Given the description of an element on the screen output the (x, y) to click on. 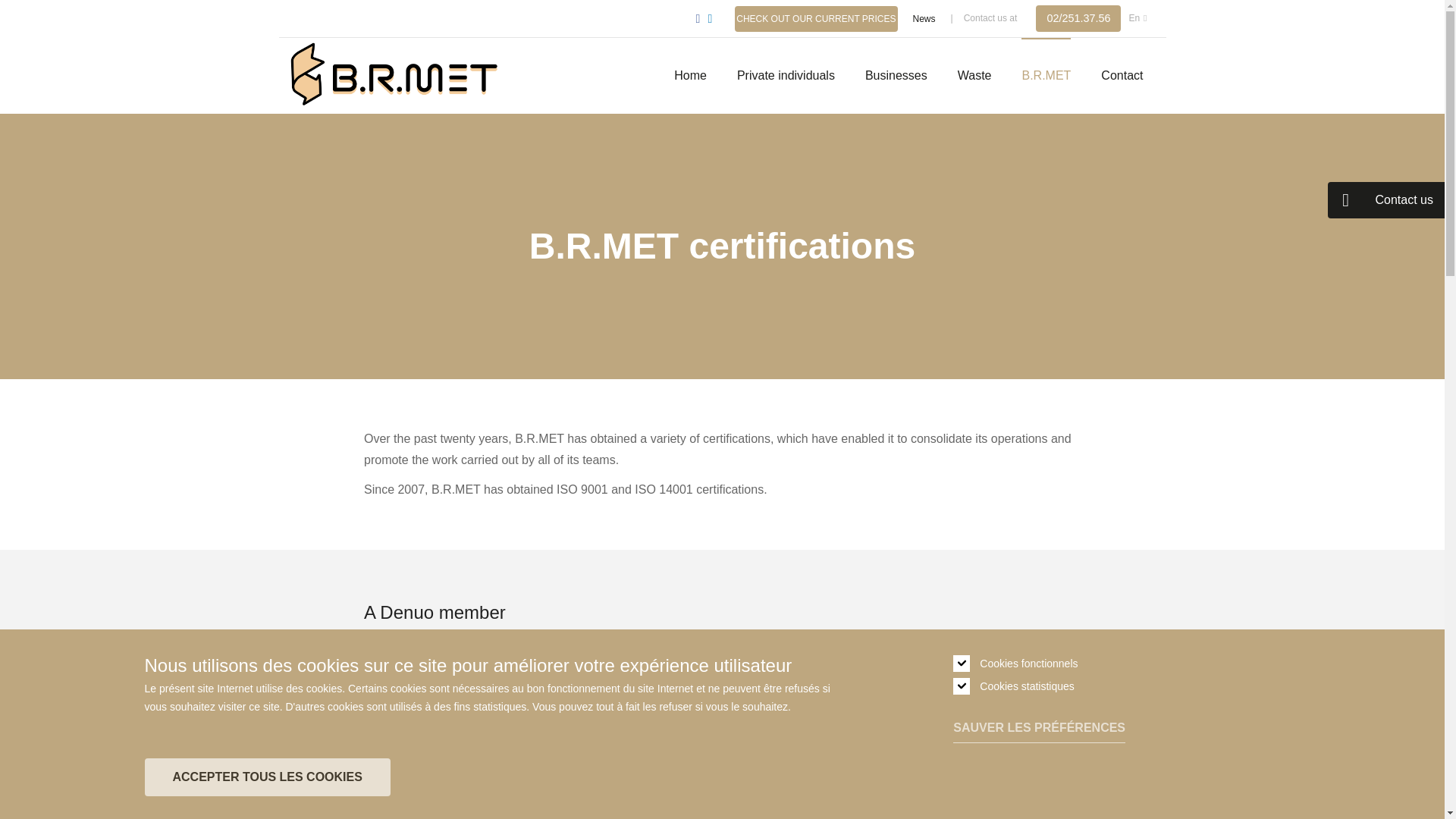
Private individuals (785, 75)
News (924, 18)
CHECK OUT OUR CURRENT PRICES (815, 18)
